Given the description of an element on the screen output the (x, y) to click on. 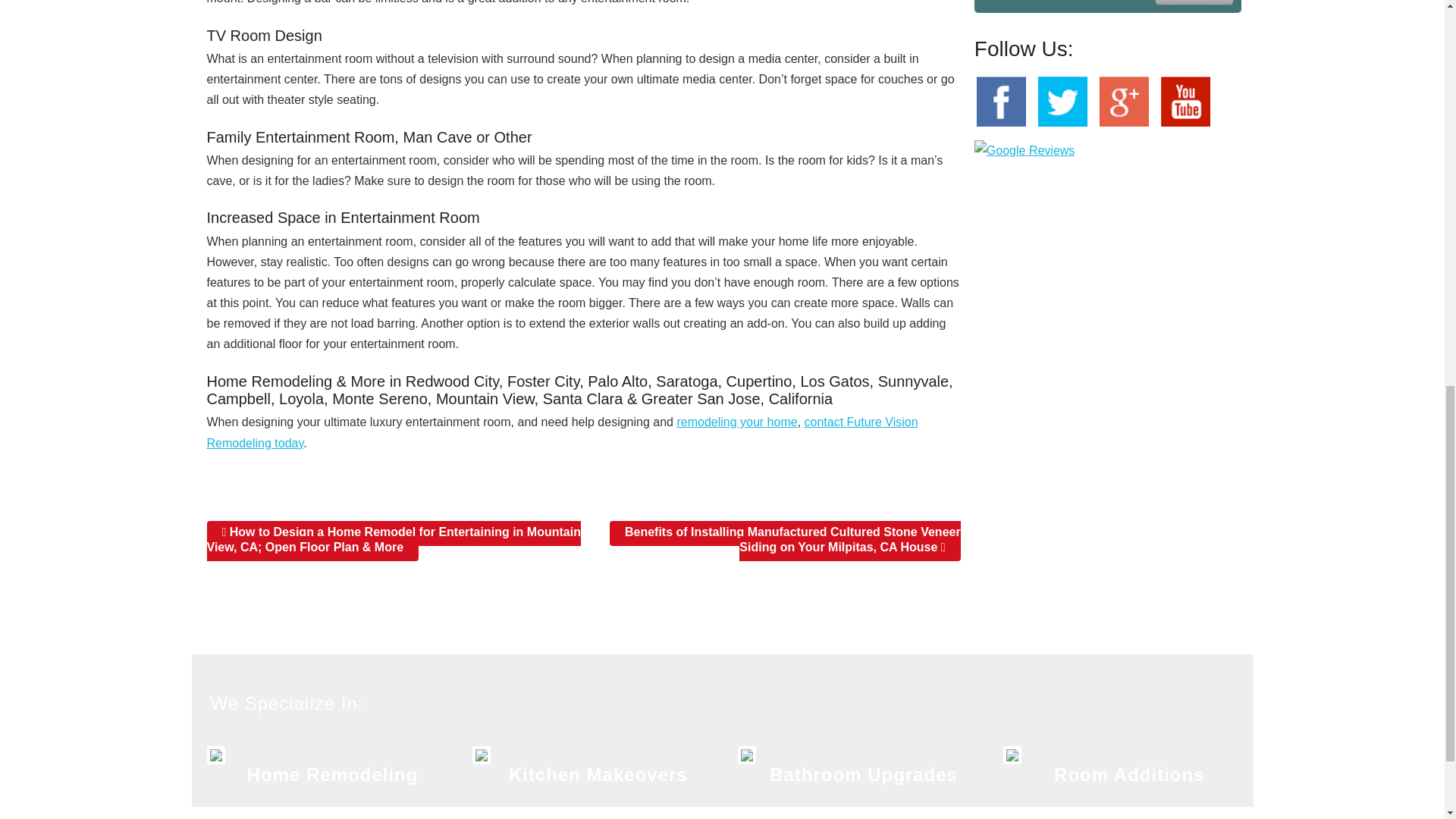
contact Future Vision Remodeling today (561, 431)
Send (1193, 2)
remodeling your home (736, 421)
Send (1193, 2)
